Given the description of an element on the screen output the (x, y) to click on. 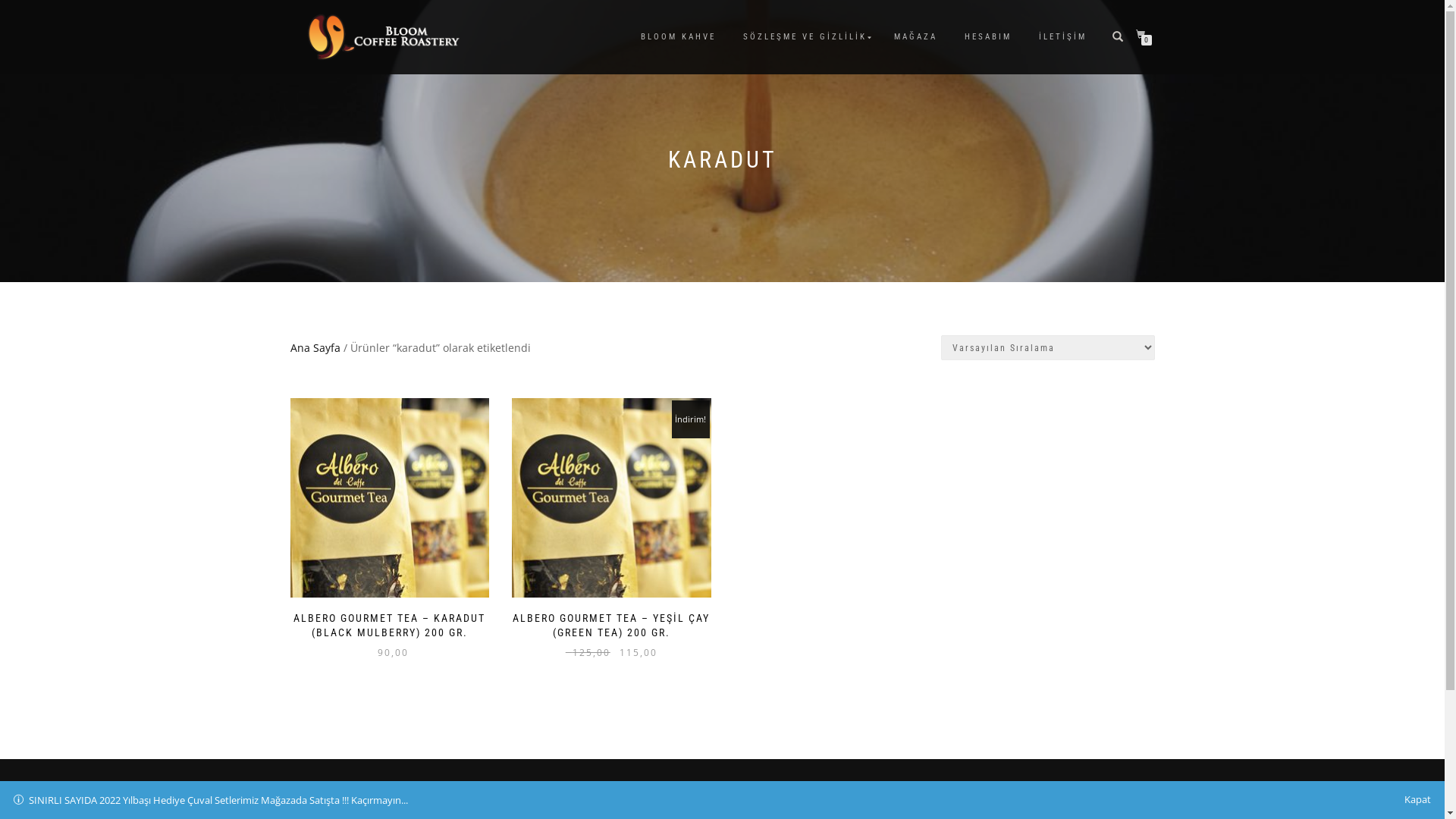
HESABIM Element type: text (987, 37)
Ana Sayfa Element type: text (314, 347)
BLOOM KAHVE Element type: text (678, 37)
BANNER-3-A Element type: hover (390, 497)
BANNER-3-A Element type: hover (611, 497)
Kapat Element type: text (1417, 799)
0 Element type: text (1143, 35)
